Given the description of an element on the screen output the (x, y) to click on. 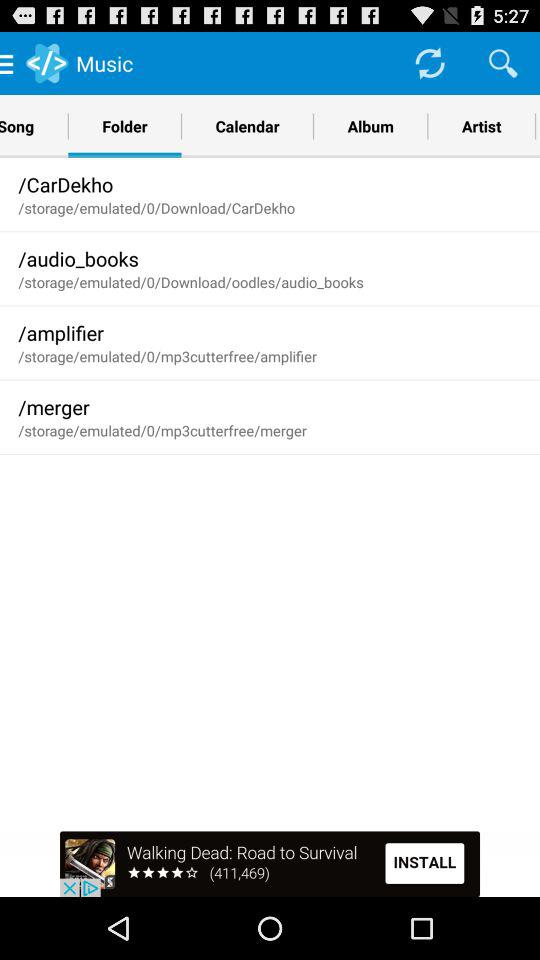
click to install the app (270, 864)
